Given the description of an element on the screen output the (x, y) to click on. 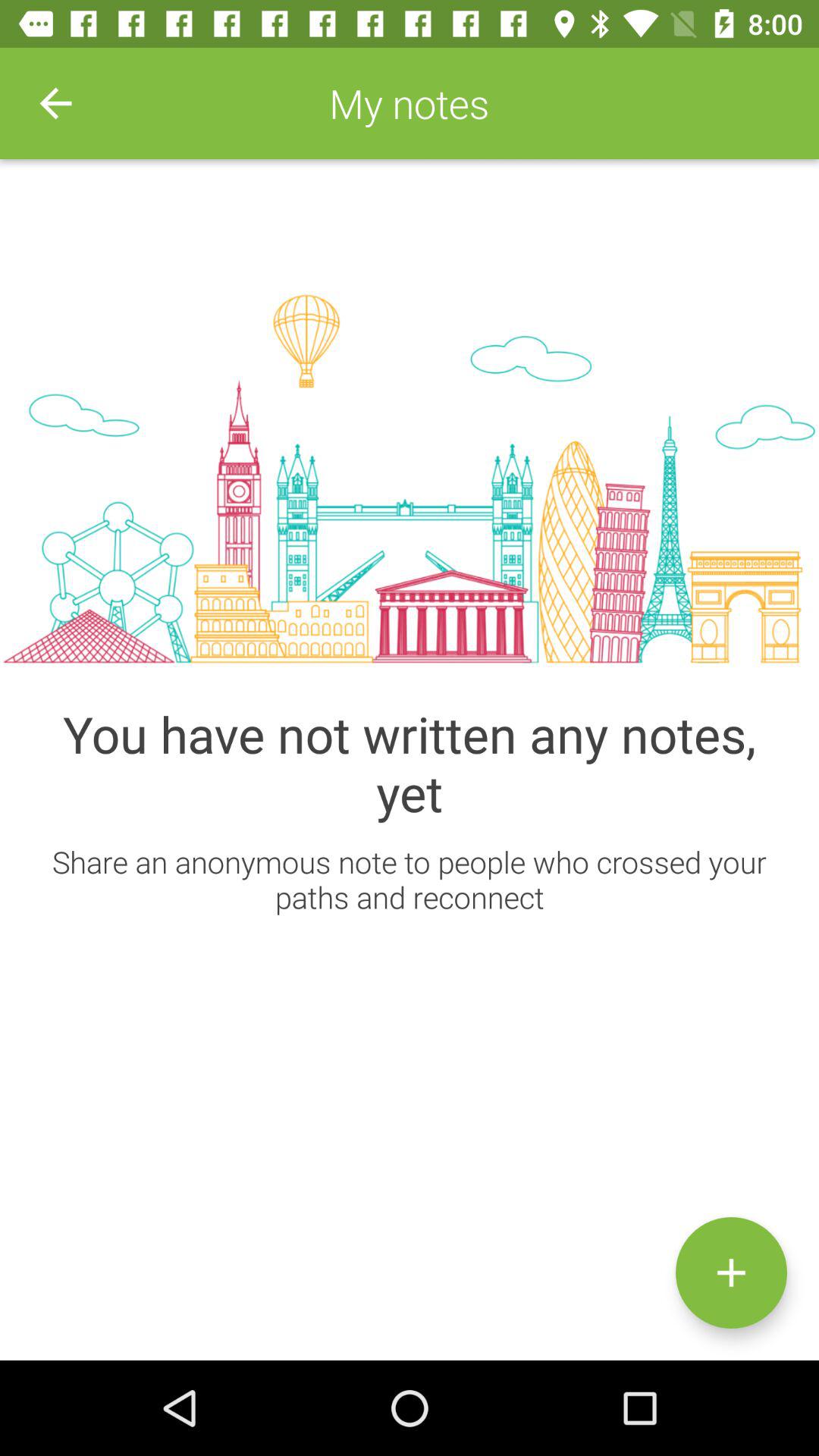
turn on the icon below the share an anonymous (731, 1272)
